Given the description of an element on the screen output the (x, y) to click on. 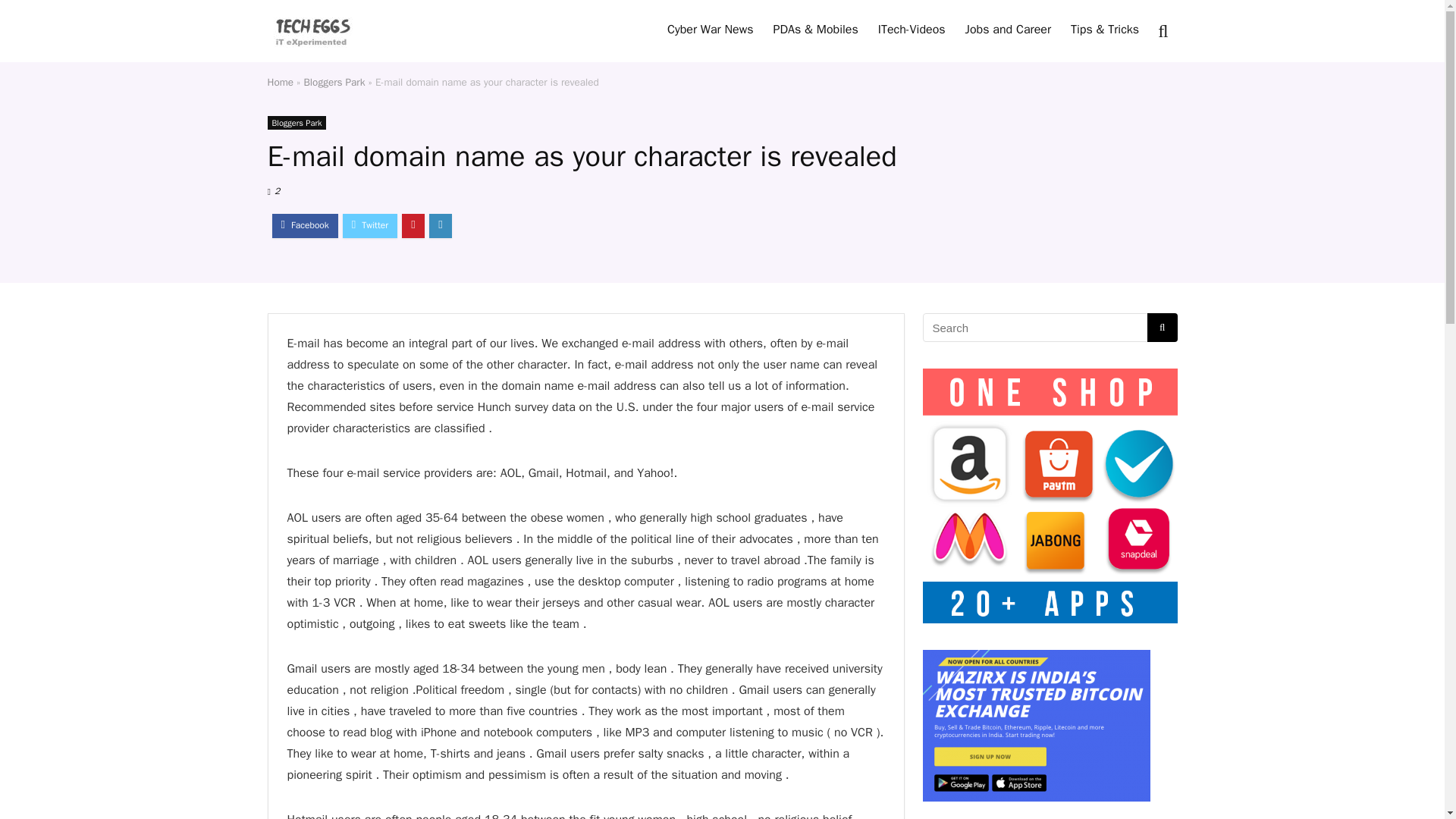
Bloggers Park (334, 82)
Jobs and Career (1008, 30)
Bloggers Park (296, 122)
Home (280, 82)
Cyber War News (710, 30)
View all posts in Bloggers Park (296, 122)
ITech-Videos (911, 30)
